Given the description of an element on the screen output the (x, y) to click on. 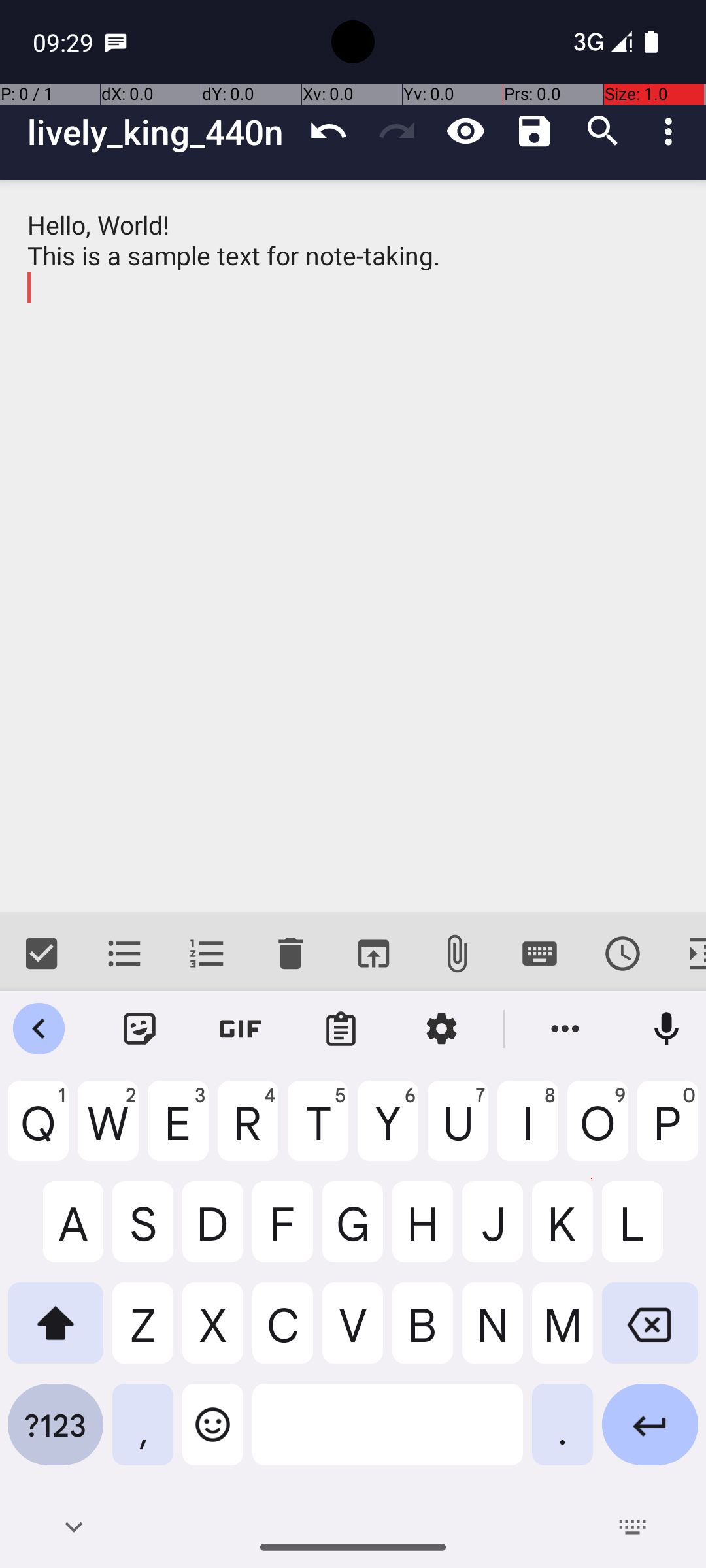
lively_king_440n Element type: android.widget.TextView (160, 131)
Hello, World!
This is a sample text for note-taking.
 Element type: android.widget.EditText (353, 545)
Ordered list Element type: android.widget.ImageView (207, 953)
Indent Element type: android.widget.ImageView (685, 953)
09:29 Element type: android.widget.TextView (64, 41)
